Given the description of an element on the screen output the (x, y) to click on. 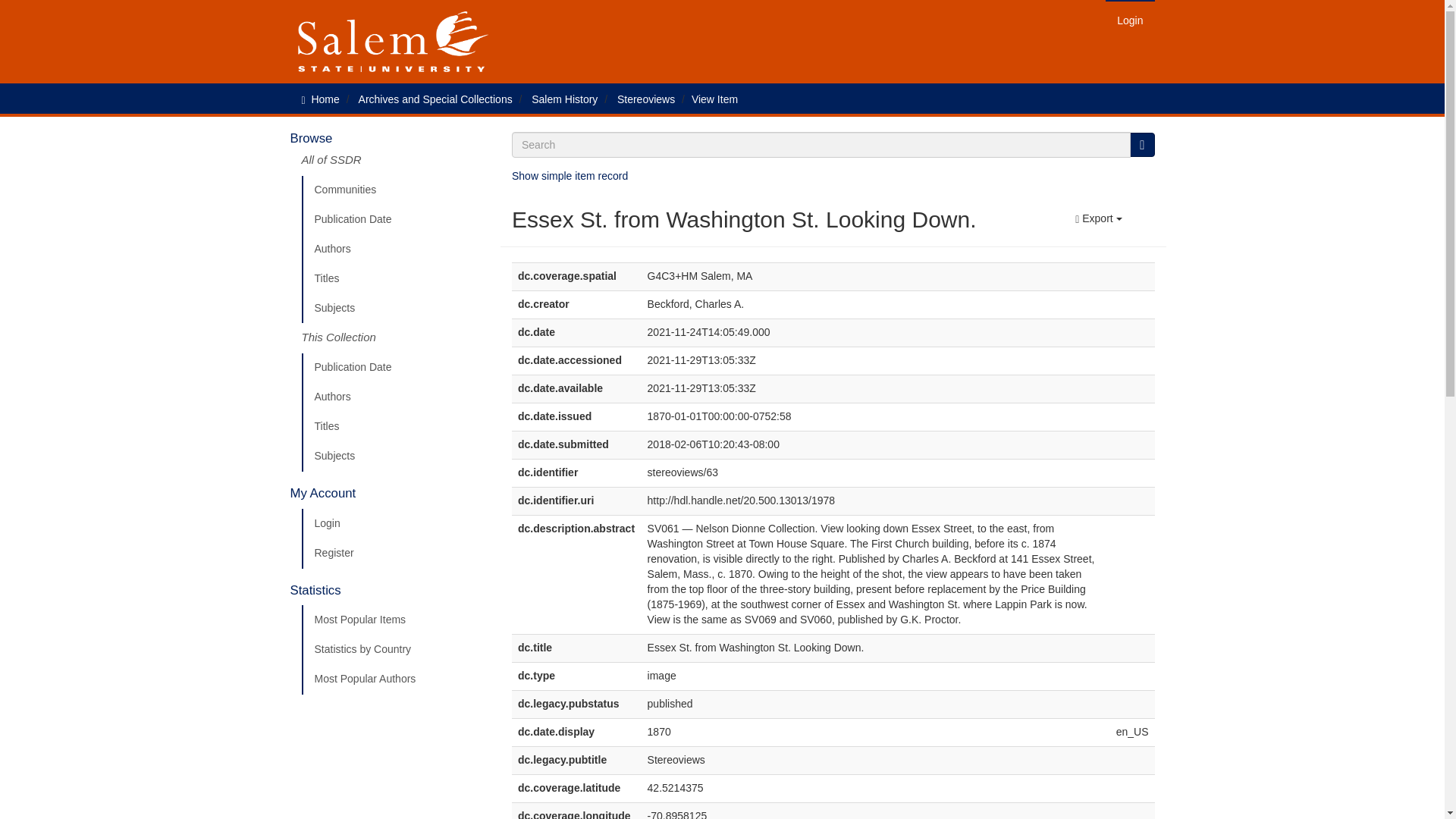
Publication Date (395, 367)
Titles (395, 278)
Show simple item record (569, 175)
Publication Date (395, 219)
Communities (395, 190)
Login (1129, 19)
Login (395, 523)
Go (1141, 144)
Subjects (395, 308)
Export (1098, 218)
Most Popular Items (395, 620)
Register (395, 553)
All of SSDR (395, 164)
Subjects (395, 456)
Archives and Special Collections (435, 99)
